Given the description of an element on the screen output the (x, y) to click on. 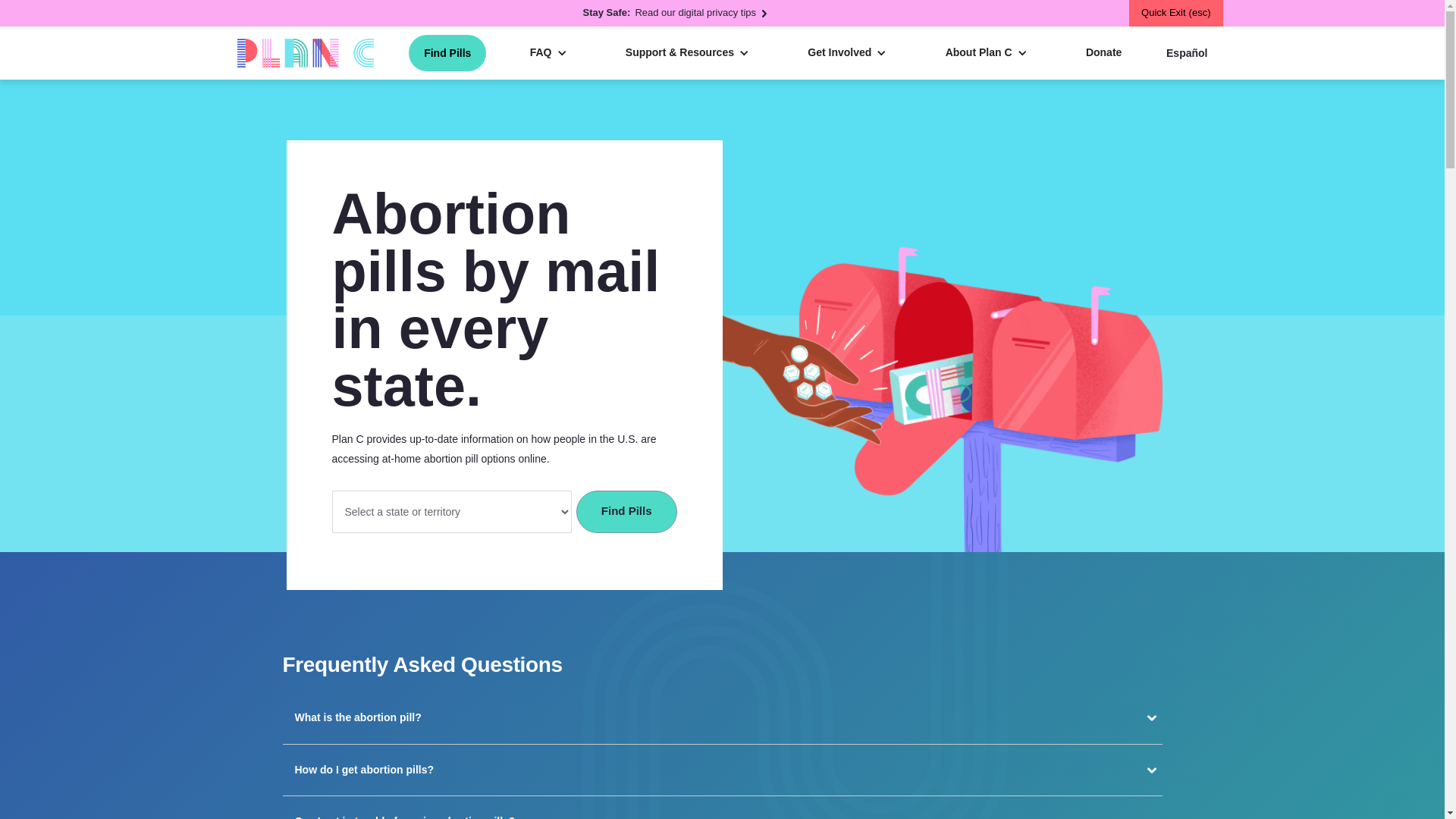
Plan C logo (675, 13)
Find Pills (303, 52)
someone accessing at home abortion pill online care (626, 511)
Find Pills (941, 398)
Find Pills (447, 53)
Donate (626, 511)
